Given the description of an element on the screen output the (x, y) to click on. 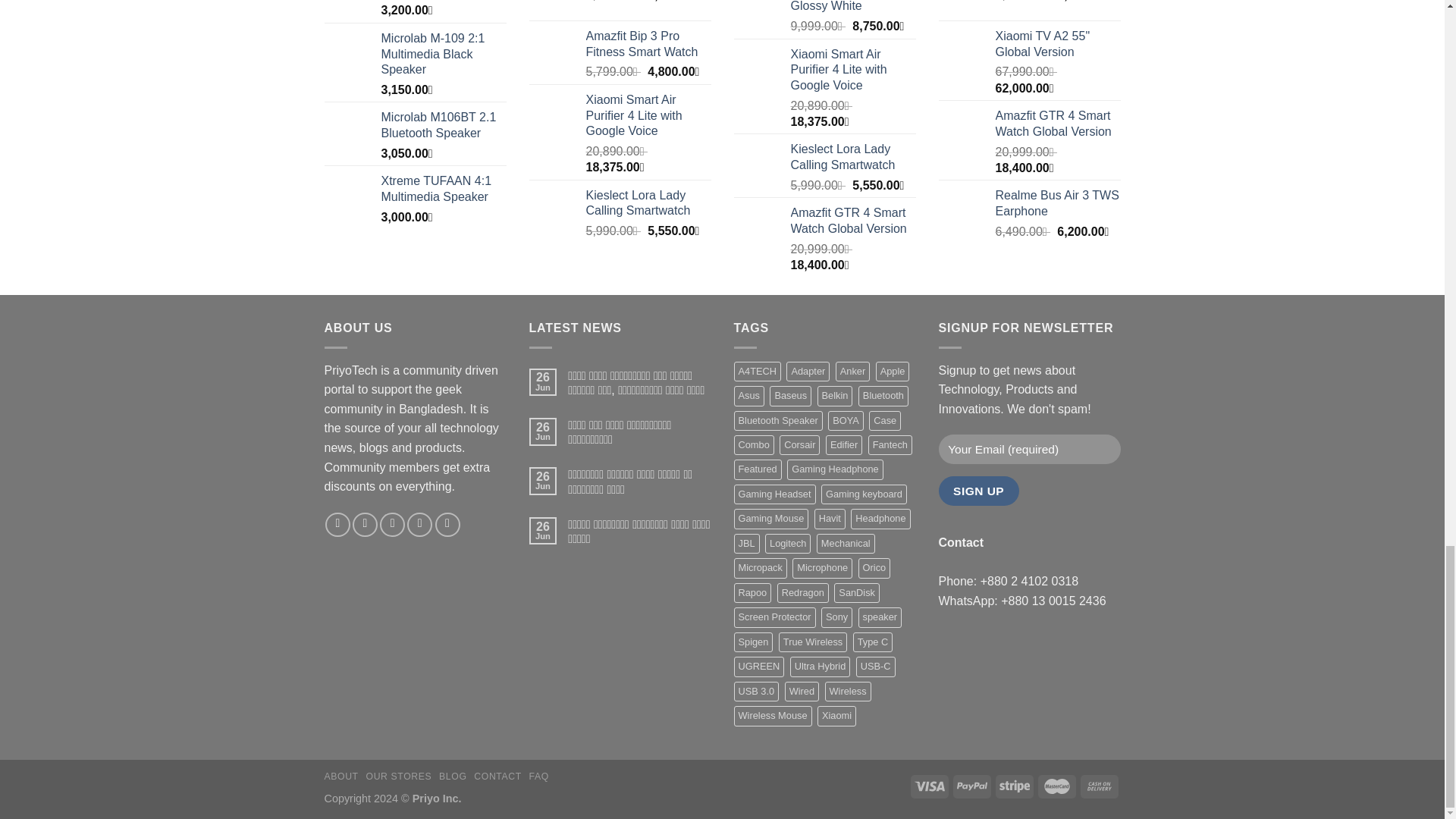
Sign Up (979, 490)
